Given the description of an element on the screen output the (x, y) to click on. 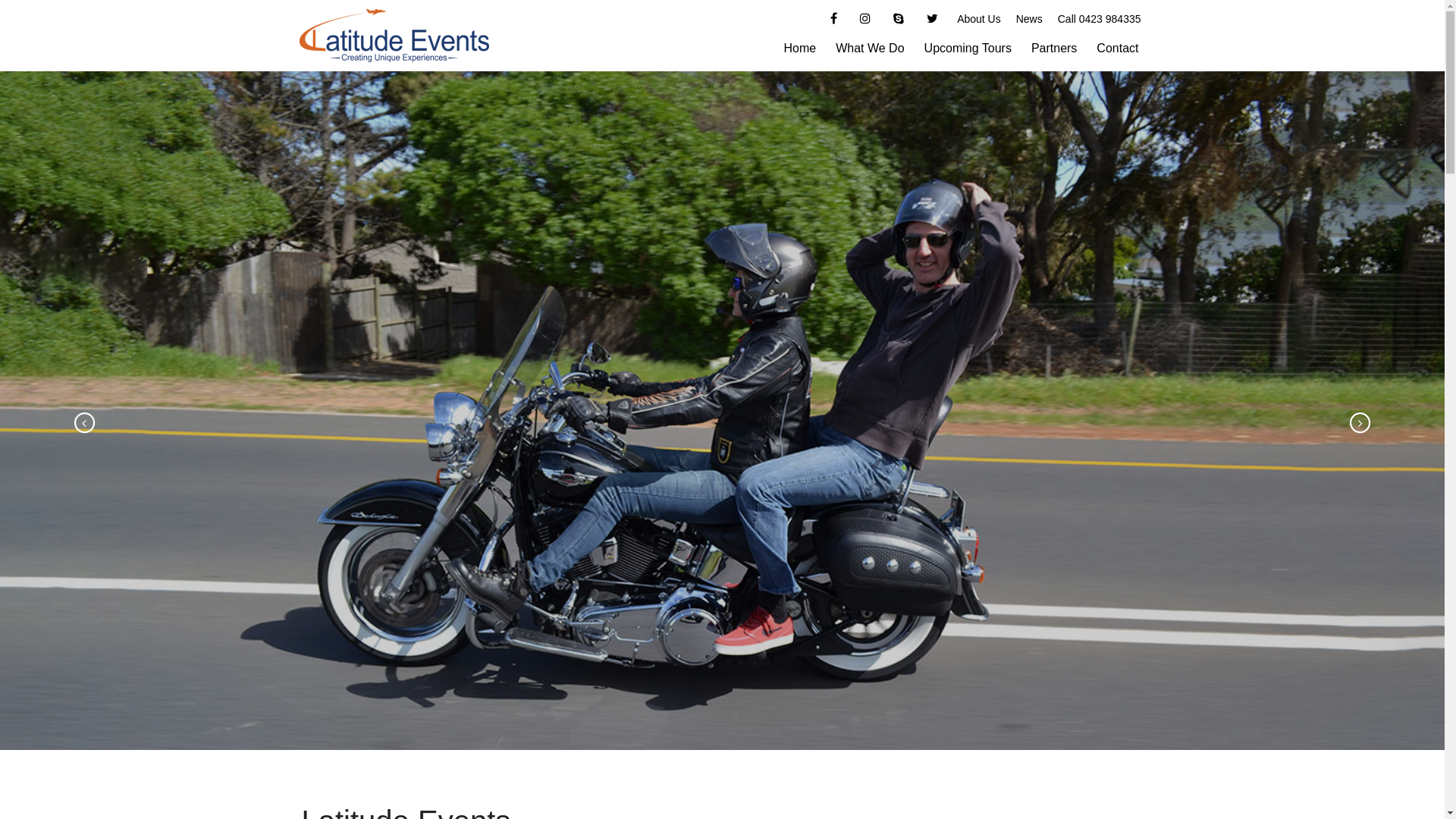
Contact Element type: text (1117, 47)
News Element type: text (1029, 18)
What We Do Element type: text (869, 47)
Upcoming Tours Element type: text (967, 47)
Partners Element type: text (1053, 47)
Call 0423 984335 Element type: text (1099, 18)
Home Element type: text (799, 47)
About Us Element type: text (979, 18)
